Given the description of an element on the screen output the (x, y) to click on. 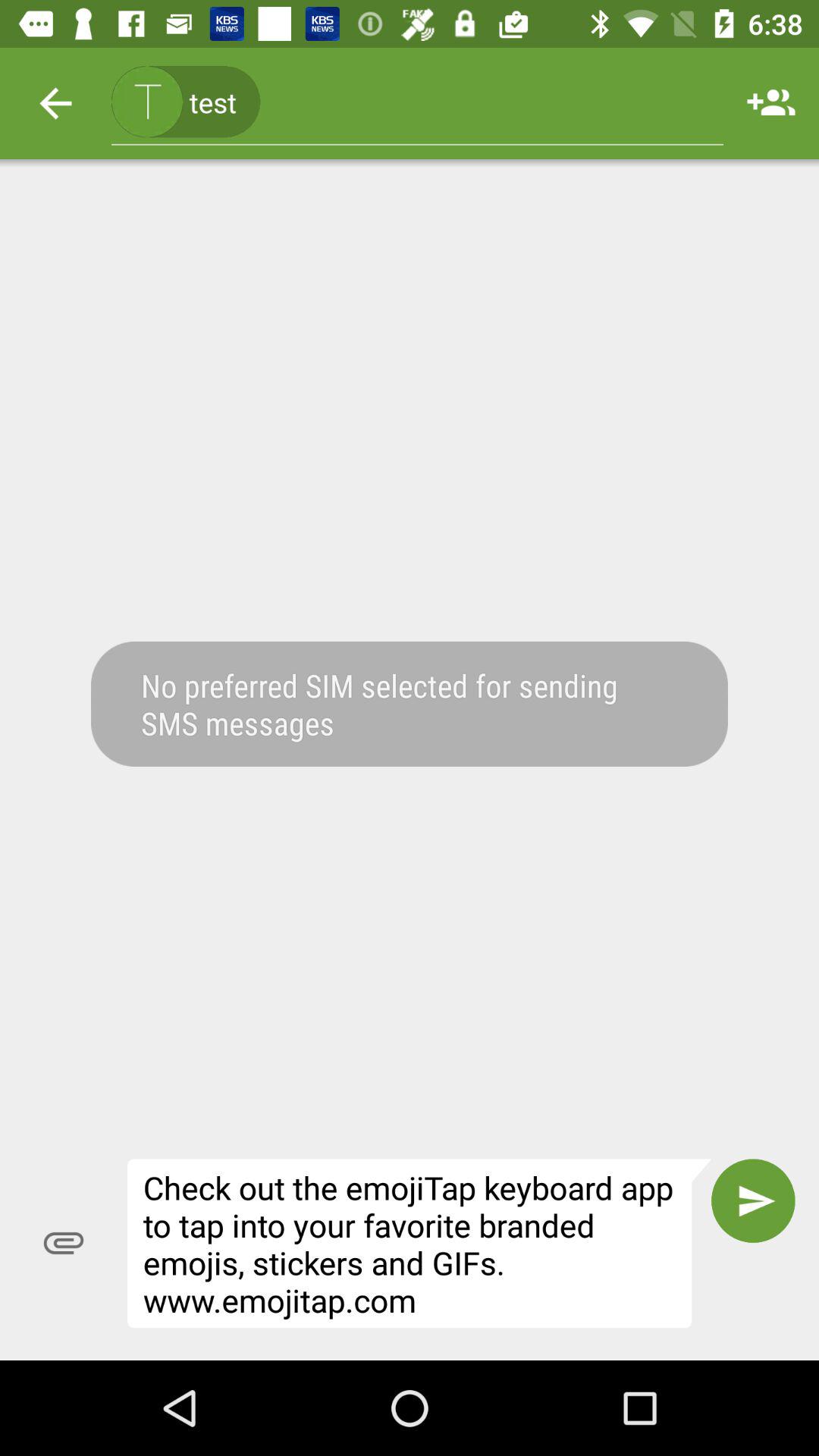
tap the icon to the left of (415) 123-4567,  icon (55, 103)
